Given the description of an element on the screen output the (x, y) to click on. 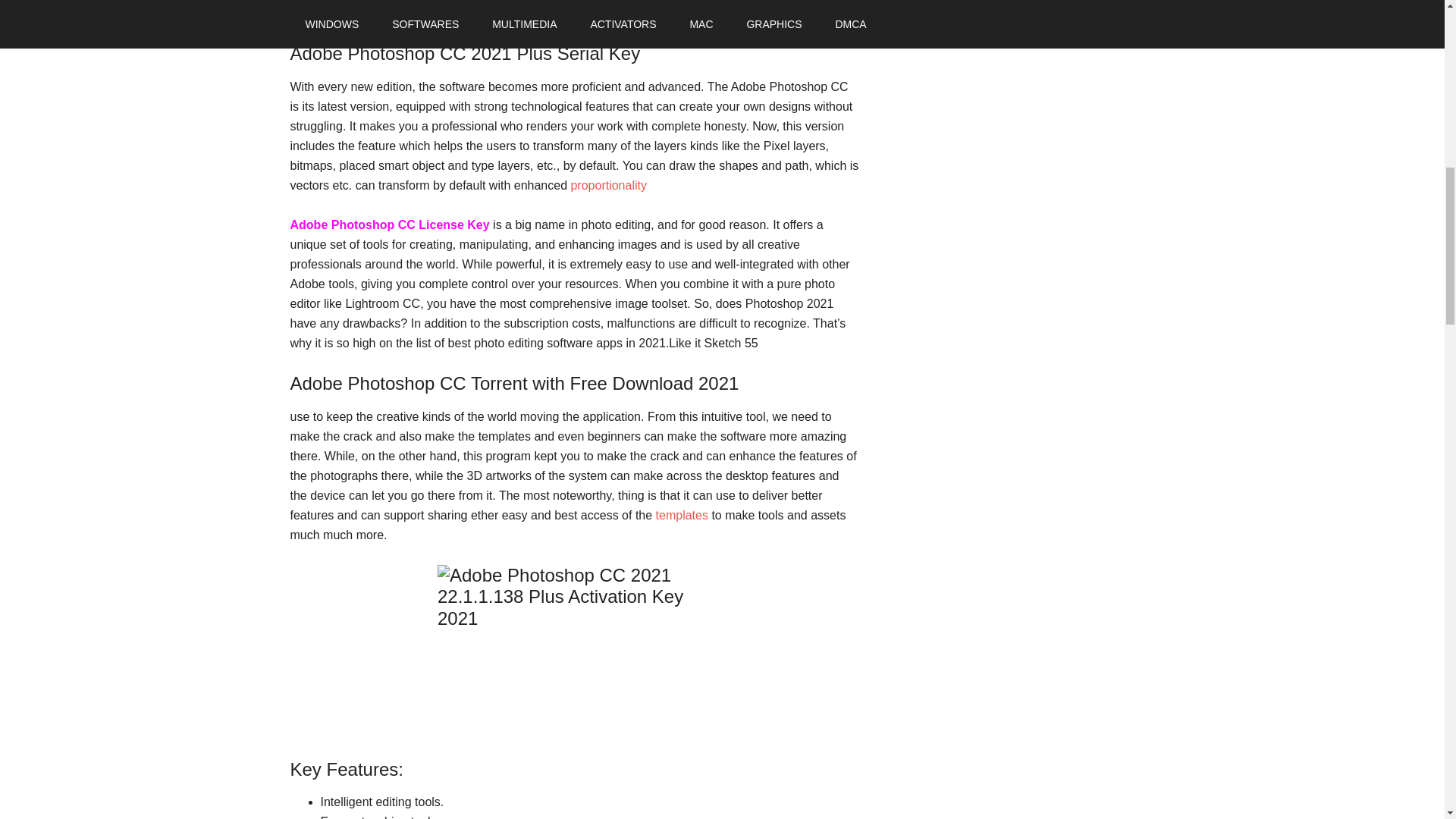
templates (681, 514)
proportionality (608, 185)
